Given the description of an element on the screen output the (x, y) to click on. 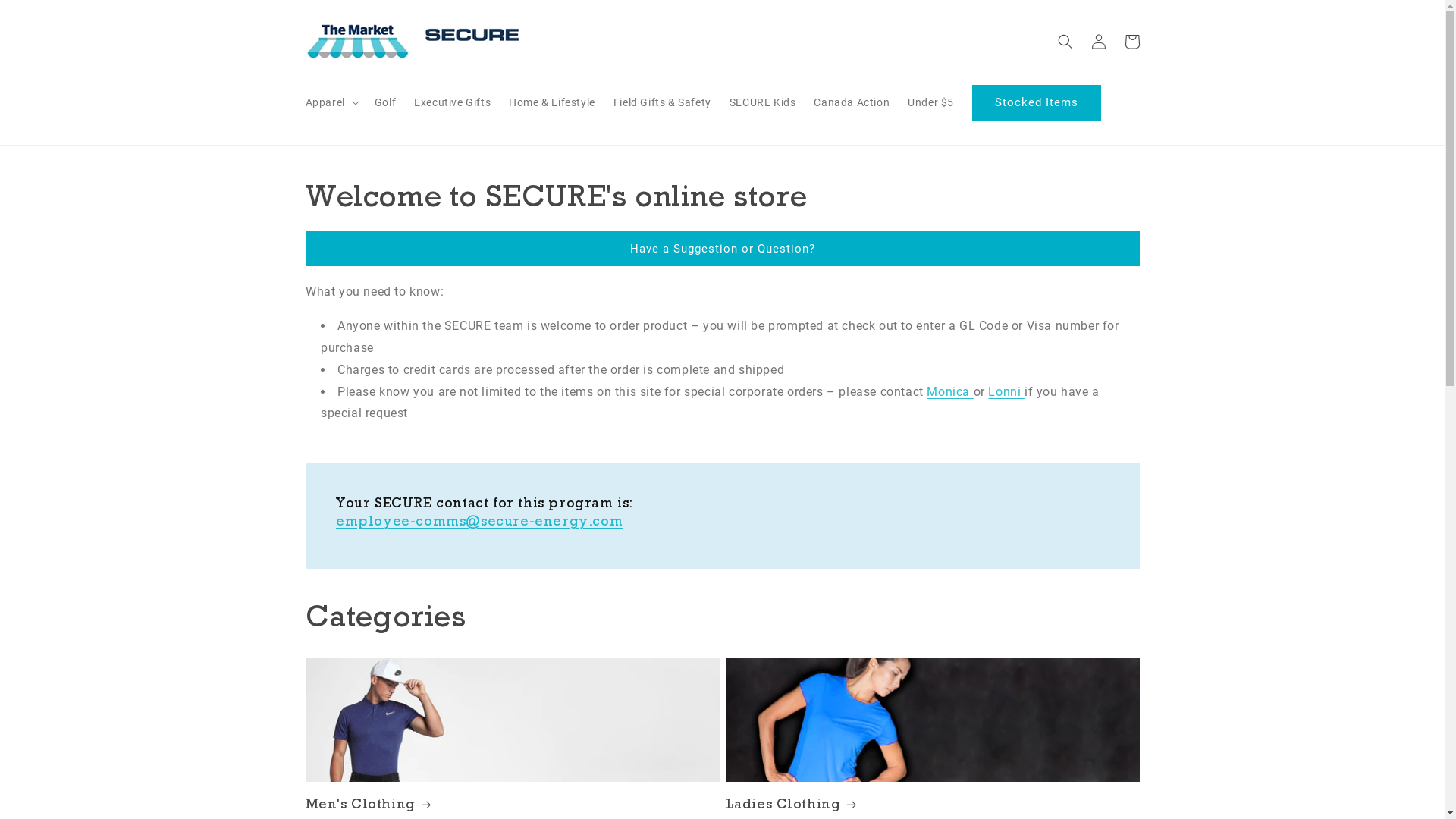
employee-comms@secure-energy.com Element type: text (478, 520)
Ladies Clothing Element type: text (931, 803)
Stocked Items Element type: text (1036, 102)
Monica Element type: text (949, 390)
Under $5 Element type: text (930, 102)
Field Gifts & Safety Element type: text (662, 102)
Cart Element type: text (1131, 40)
Lonni Element type: text (1006, 390)
Golf Element type: text (384, 102)
Log in Element type: text (1097, 40)
Canada Action Element type: text (851, 102)
Men's Clothing Element type: text (511, 803)
SECURE Kids Element type: text (762, 102)
Executive Gifts Element type: text (451, 102)
Have a Suggestion or Question? Element type: text (721, 248)
Home & Lifestyle Element type: text (551, 102)
